Given the description of an element on the screen output the (x, y) to click on. 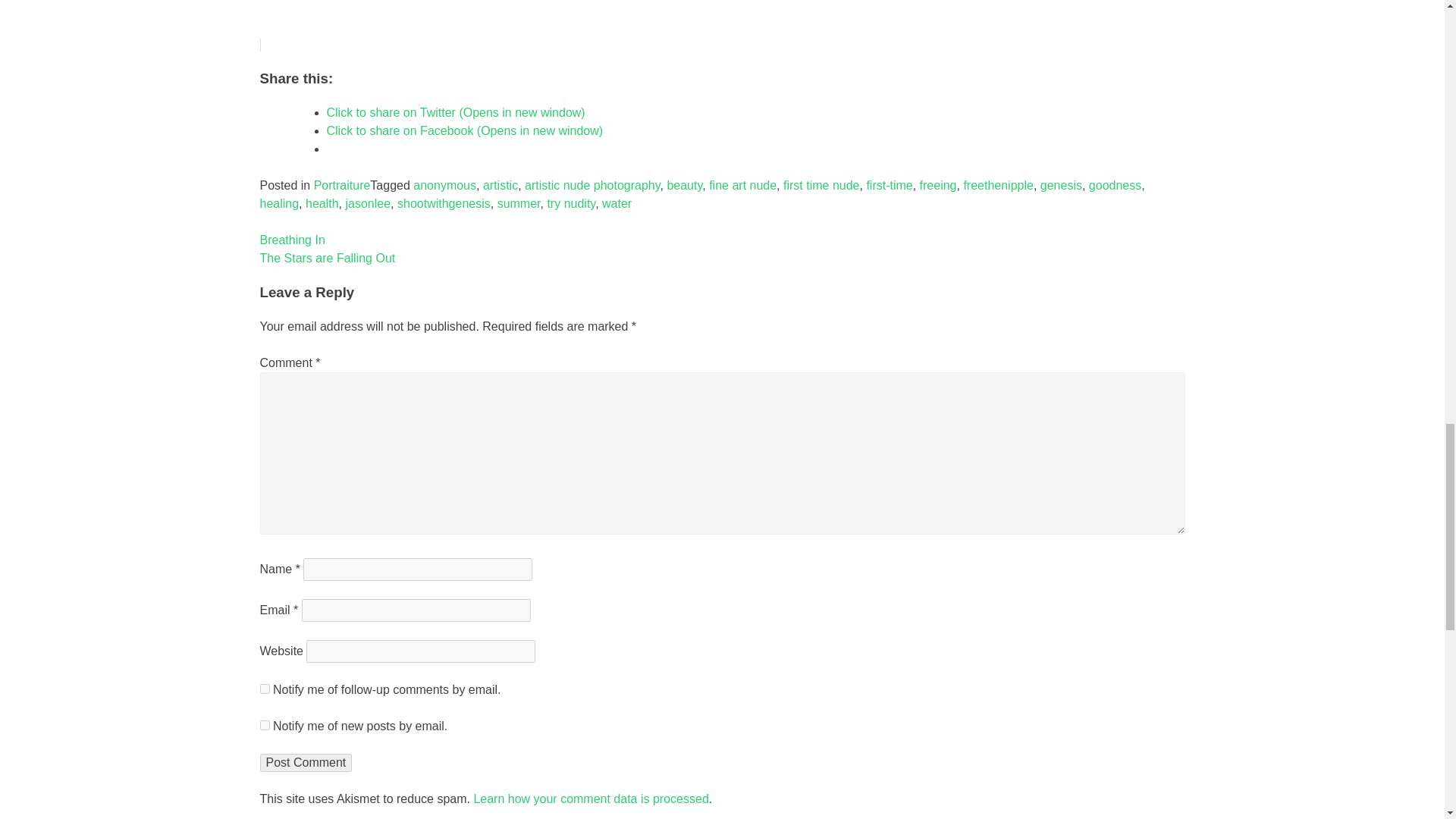
shootwithgenesis (443, 203)
Click to share on Twitter (455, 112)
artistic nude photography (591, 185)
genesis (1061, 185)
beauty (683, 185)
first time nude (821, 185)
jasonlee (367, 203)
health (322, 203)
freeing (938, 185)
subscribe (264, 725)
Click to share on Facebook (464, 130)
freethenipple (997, 185)
goodness (1115, 185)
first-time (889, 185)
anonymous (444, 185)
